Given the description of an element on the screen output the (x, y) to click on. 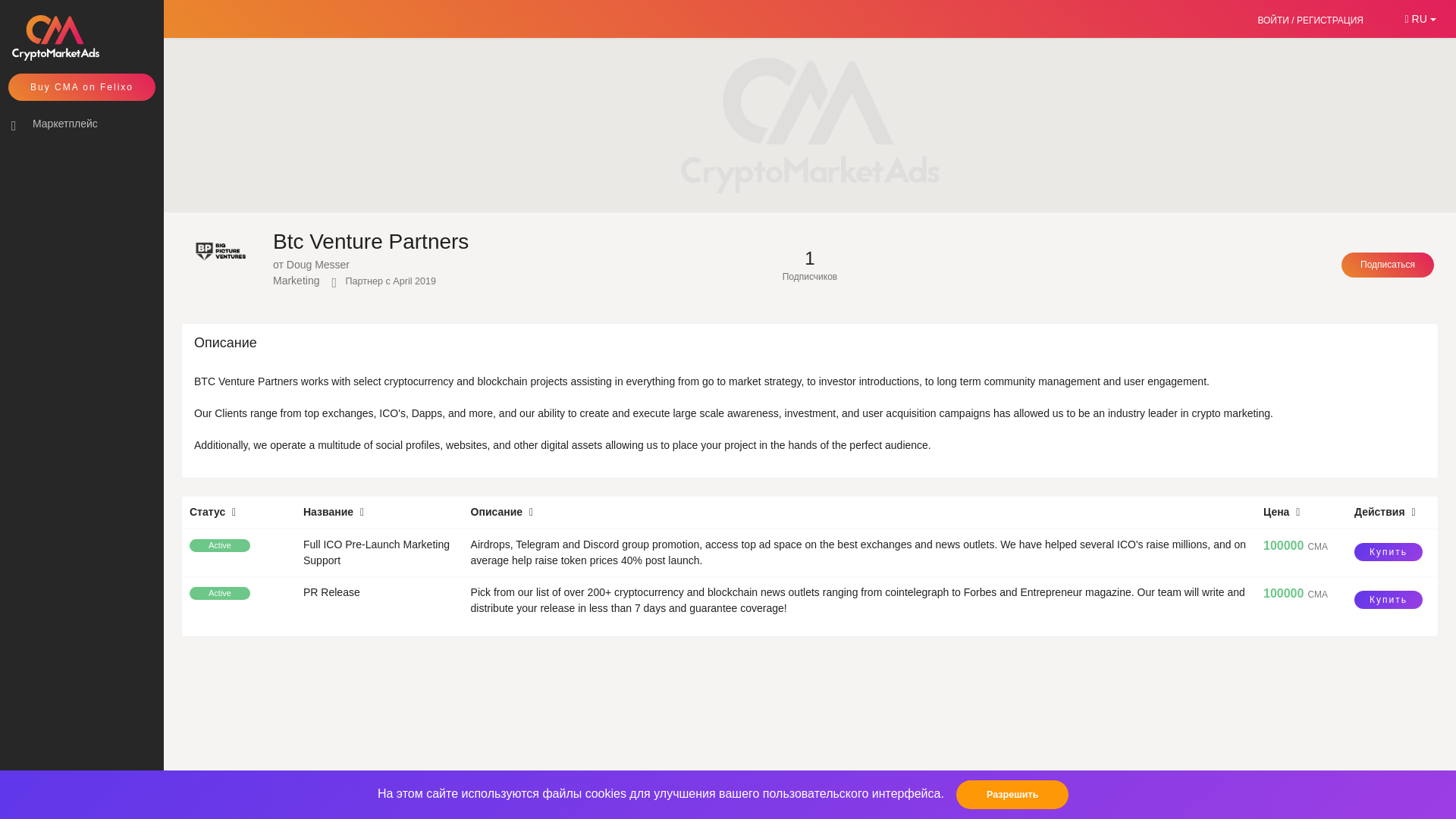
Active (219, 545)
Active (219, 593)
Doug Messer (317, 264)
SIA crypto moons (1306, 792)
RU (1420, 18)
Buy CMA on Felixo (81, 86)
